Given the description of an element on the screen output the (x, y) to click on. 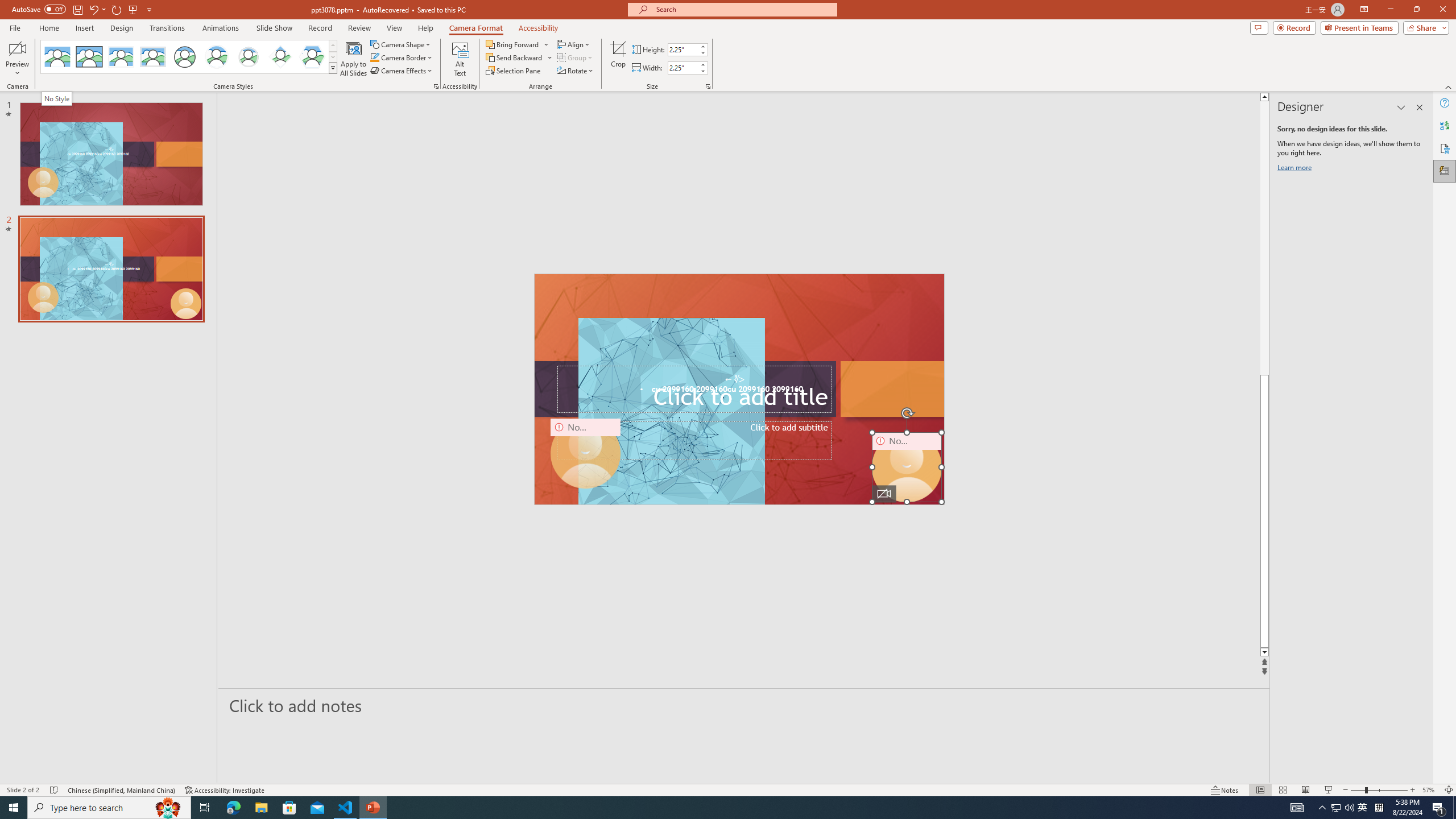
Help (1444, 102)
Transitions (167, 28)
Redo (117, 9)
Selection Pane... (513, 69)
Alt Text (459, 58)
More Options (550, 56)
Undo (92, 9)
Customize Quick Access Toolbar (149, 9)
TextBox 7 (734, 379)
Camera 14, No camera detected. (906, 466)
Page up (1427, 238)
Soft Edge Rectangle (152, 56)
Line down (1427, 652)
Reading View (1305, 790)
